Given the description of an element on the screen output the (x, y) to click on. 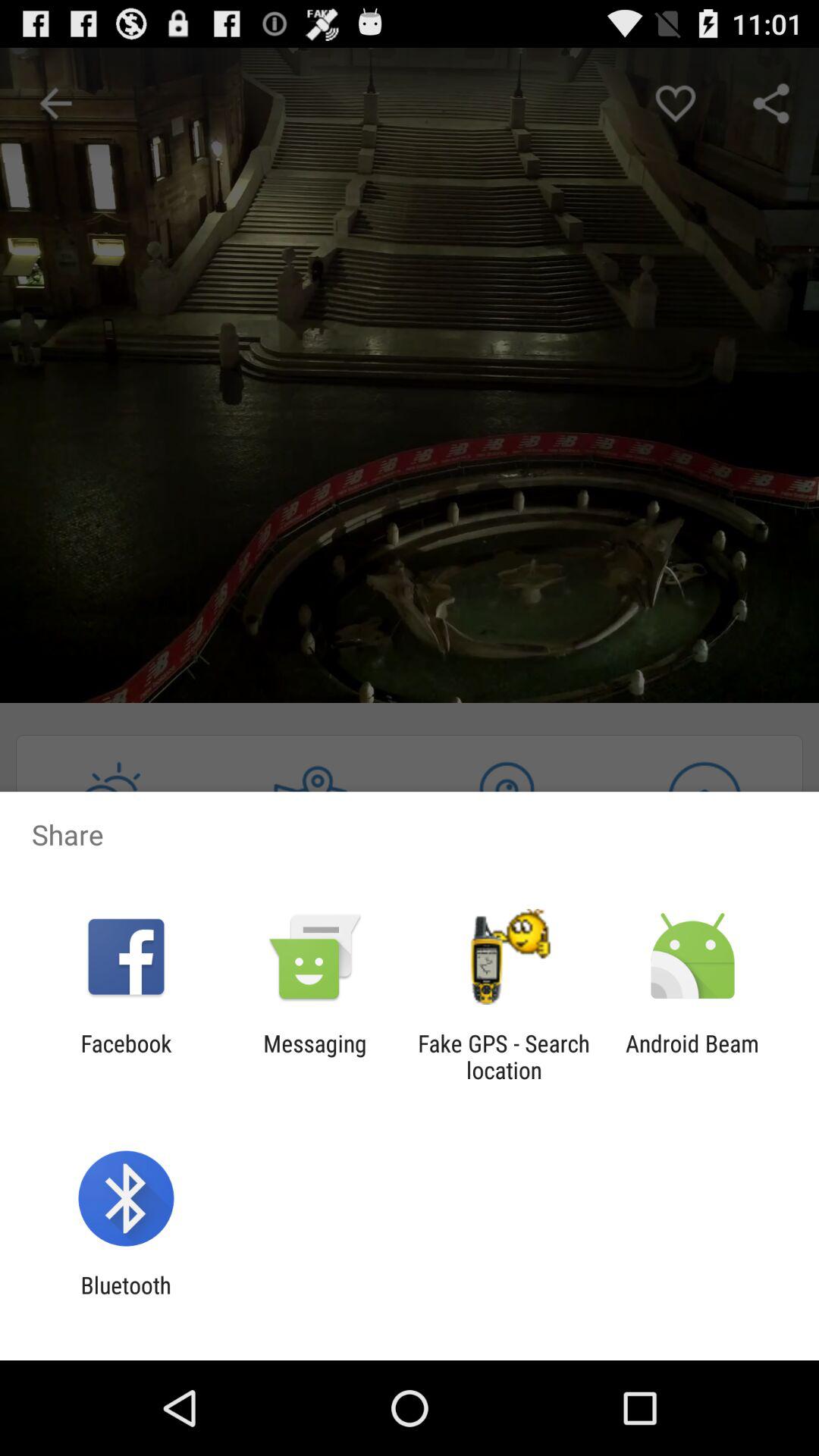
flip until the fake gps search (503, 1056)
